Given the description of an element on the screen output the (x, y) to click on. 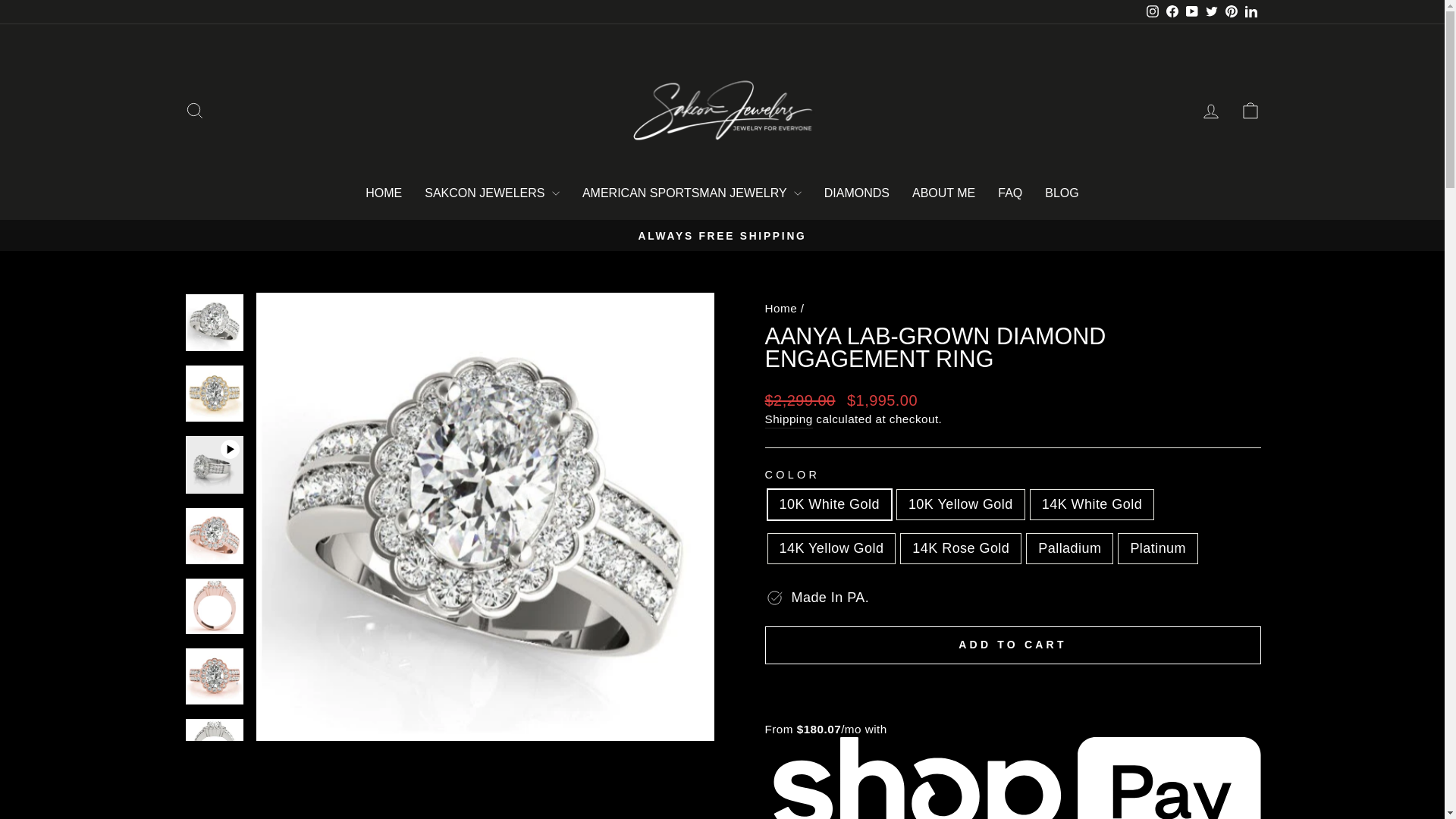
twitter (1211, 10)
instagram (1152, 10)
Back to the frontpage (780, 308)
ICON-BAG-MINIMAL (1249, 110)
